Given the description of an element on the screen output the (x, y) to click on. 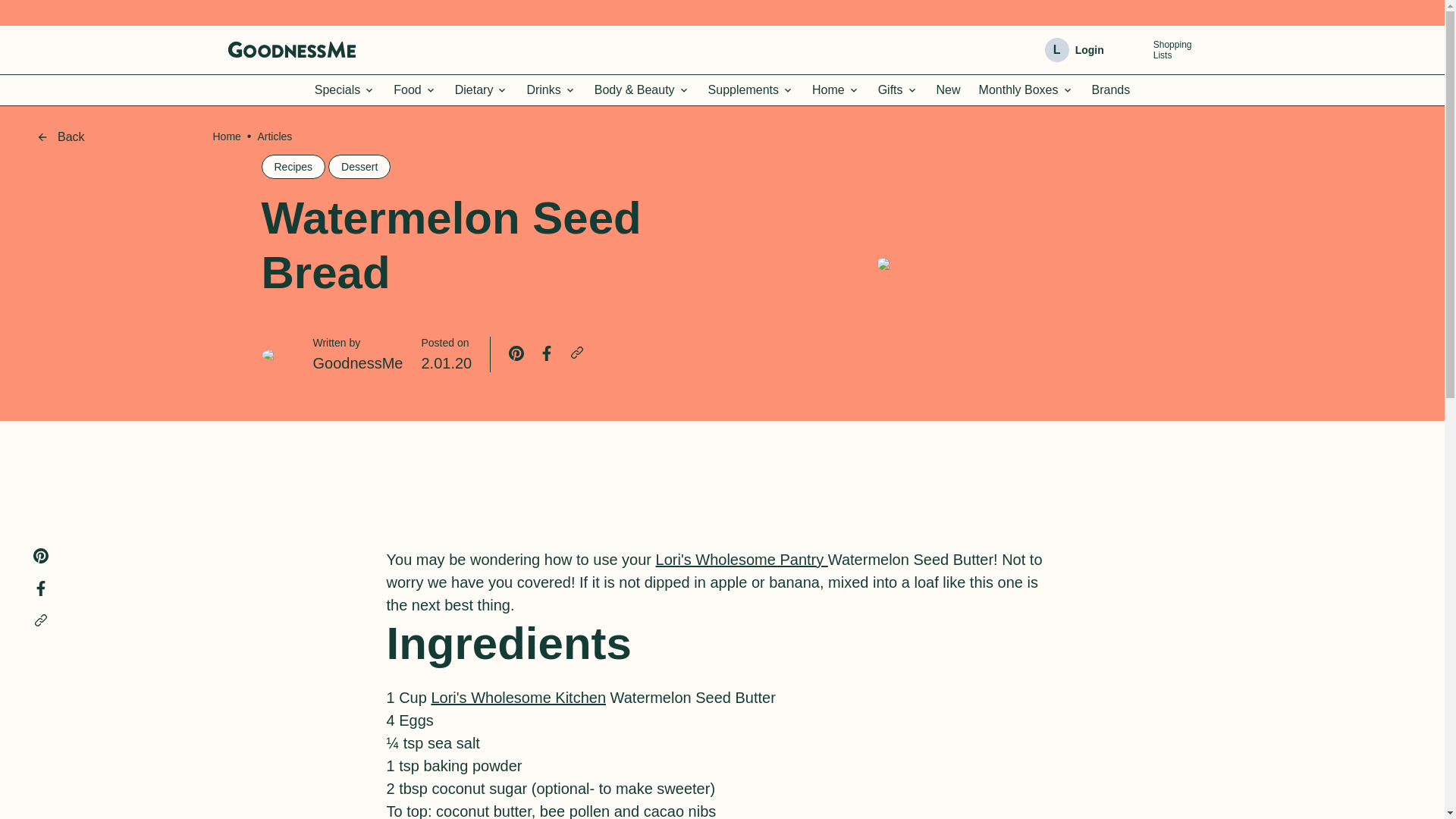
Specials (344, 90)
Open Shopping Lists (1134, 49)
Food (414, 90)
Login (1089, 50)
Specials (344, 90)
Food (1158, 49)
Manage account (414, 90)
